Given the description of an element on the screen output the (x, y) to click on. 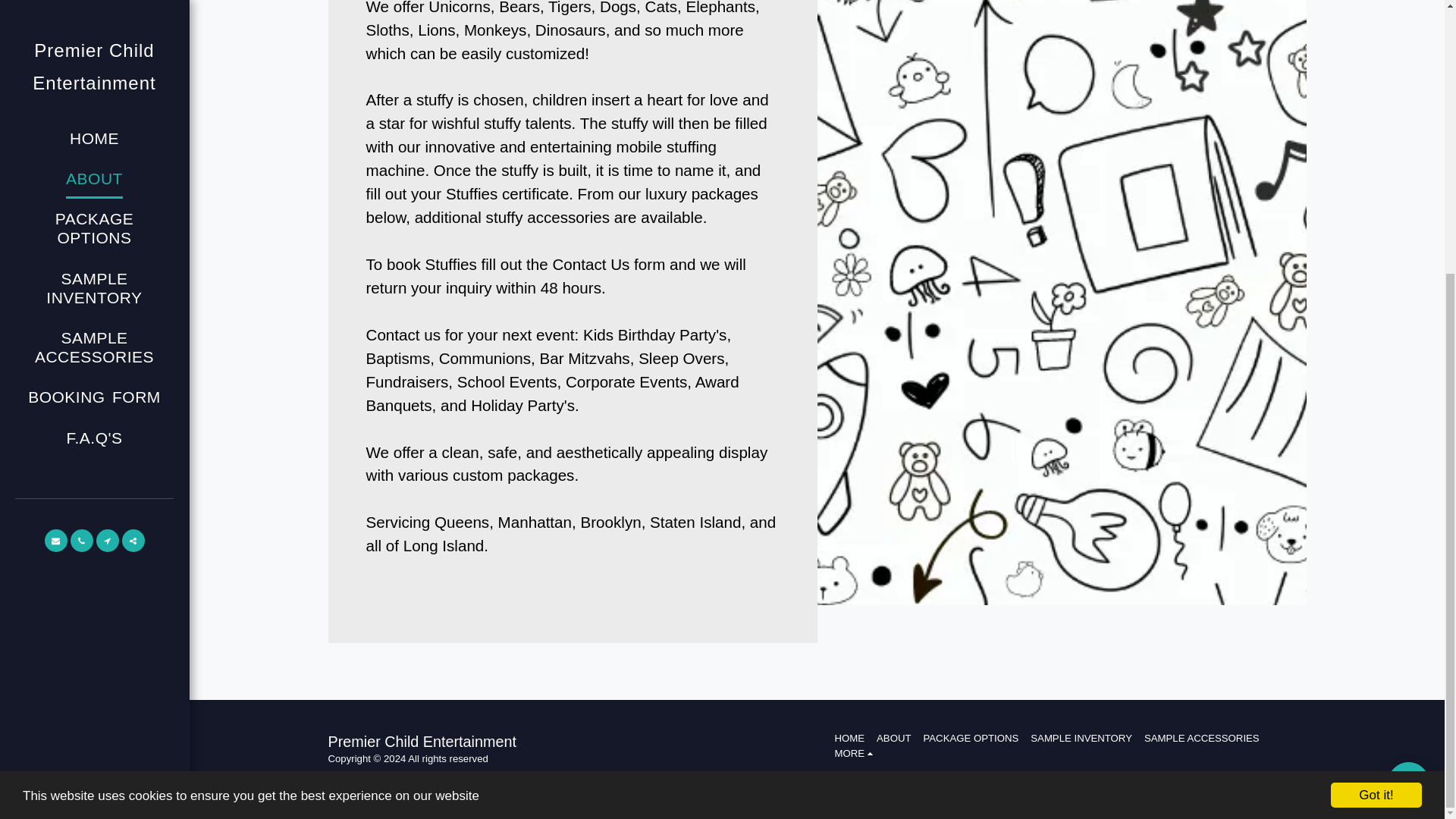
Privacy (396, 776)
SAMPLE INVENTORY (1081, 738)
MORE   (855, 753)
F.A.Q'S (93, 35)
BOOKING FORM (93, 7)
Terms (341, 776)
PACKAGE OPTIONS (971, 738)
HOME (849, 738)
